Given the description of an element on the screen output the (x, y) to click on. 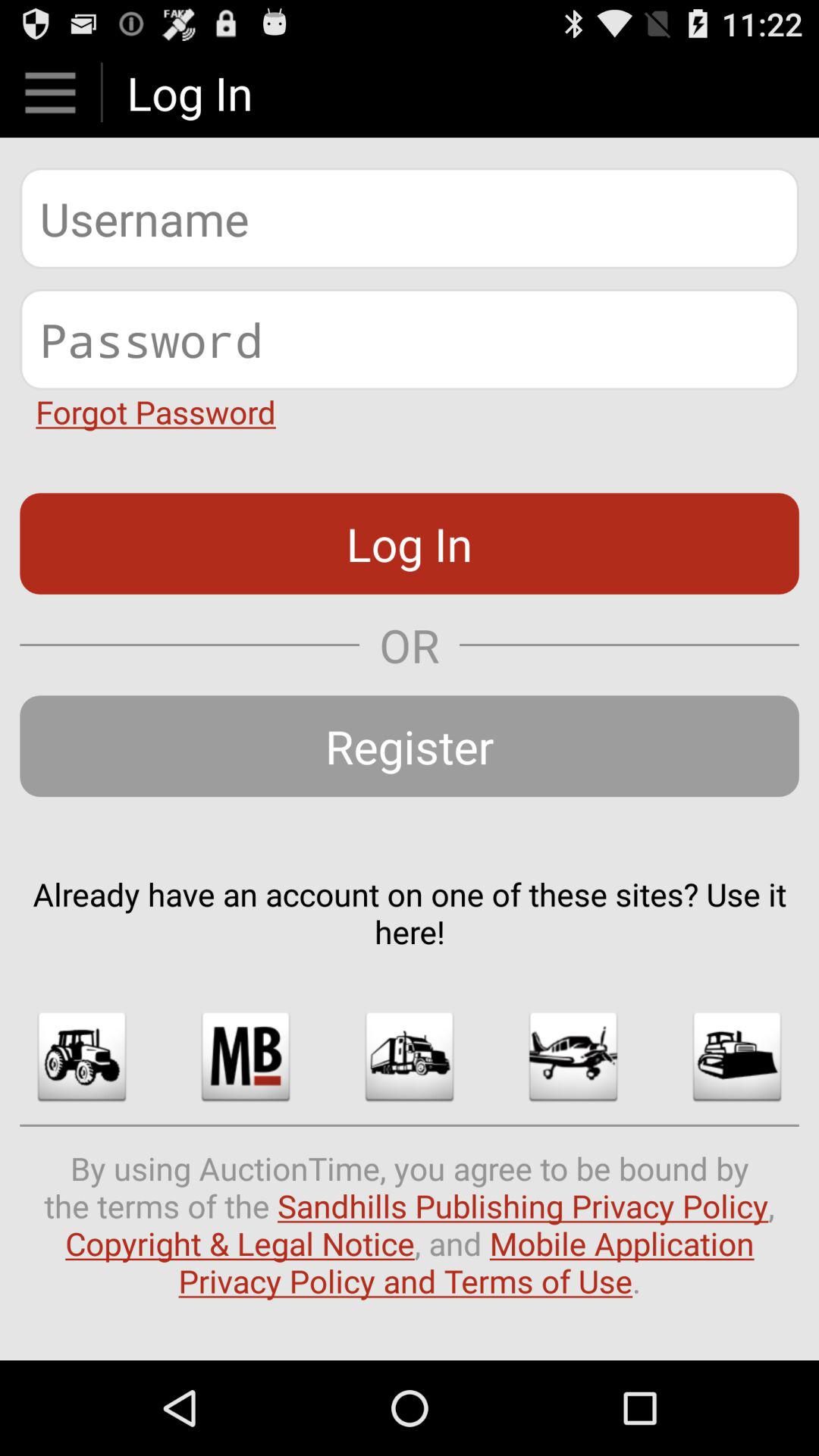
press the item below or (409, 745)
